Given the description of an element on the screen output the (x, y) to click on. 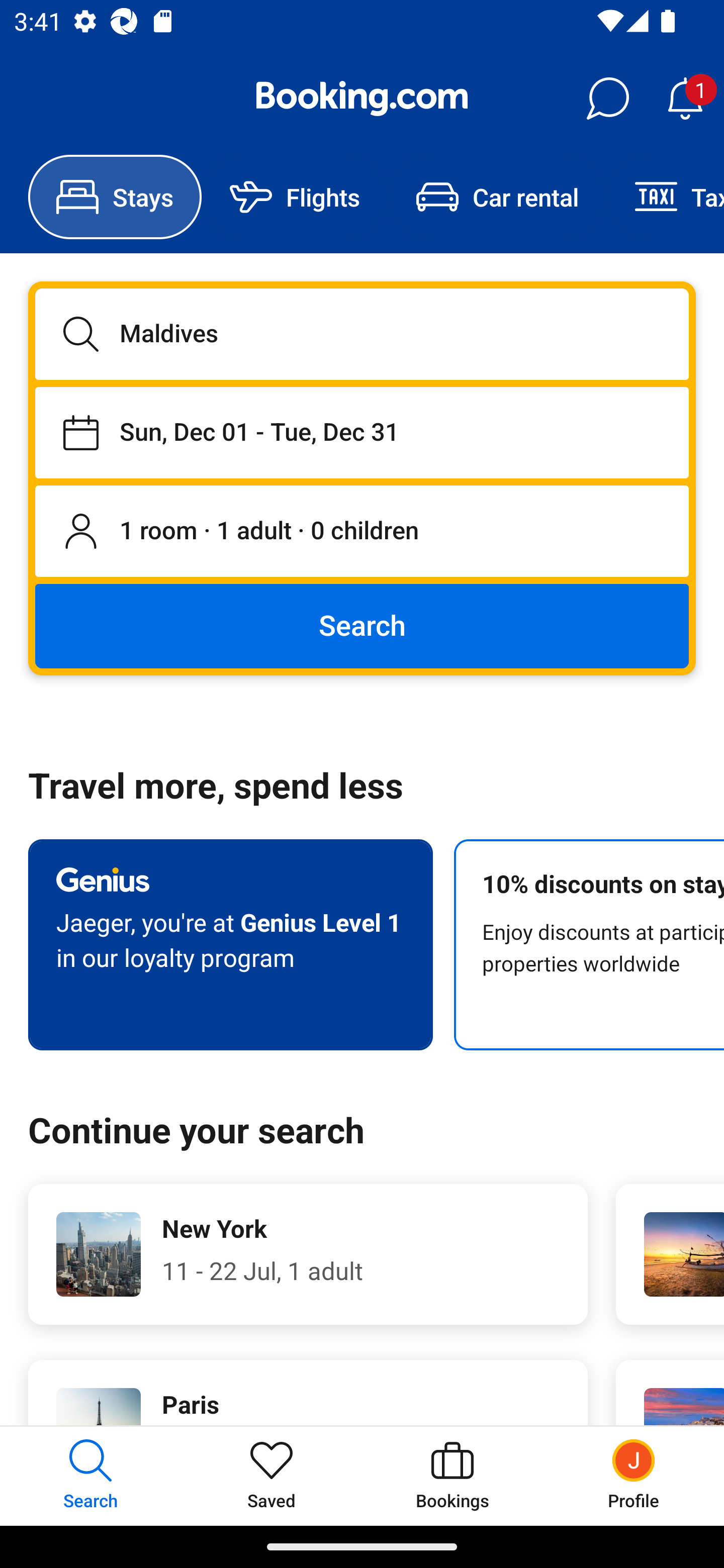
Messages (607, 98)
Notifications (685, 98)
Stays (114, 197)
Flights (294, 197)
Car rental (497, 197)
Taxi (665, 197)
Maldives (361, 333)
Staying from Sun, Dec 01 until Tue, Dec 31 (361, 432)
1 room, 1 adult, 0 children (361, 531)
Search (361, 625)
New York 11 - 22 Jul, 1 adult (307, 1253)
Saved (271, 1475)
Bookings (452, 1475)
Profile (633, 1475)
